Given the description of an element on the screen output the (x, y) to click on. 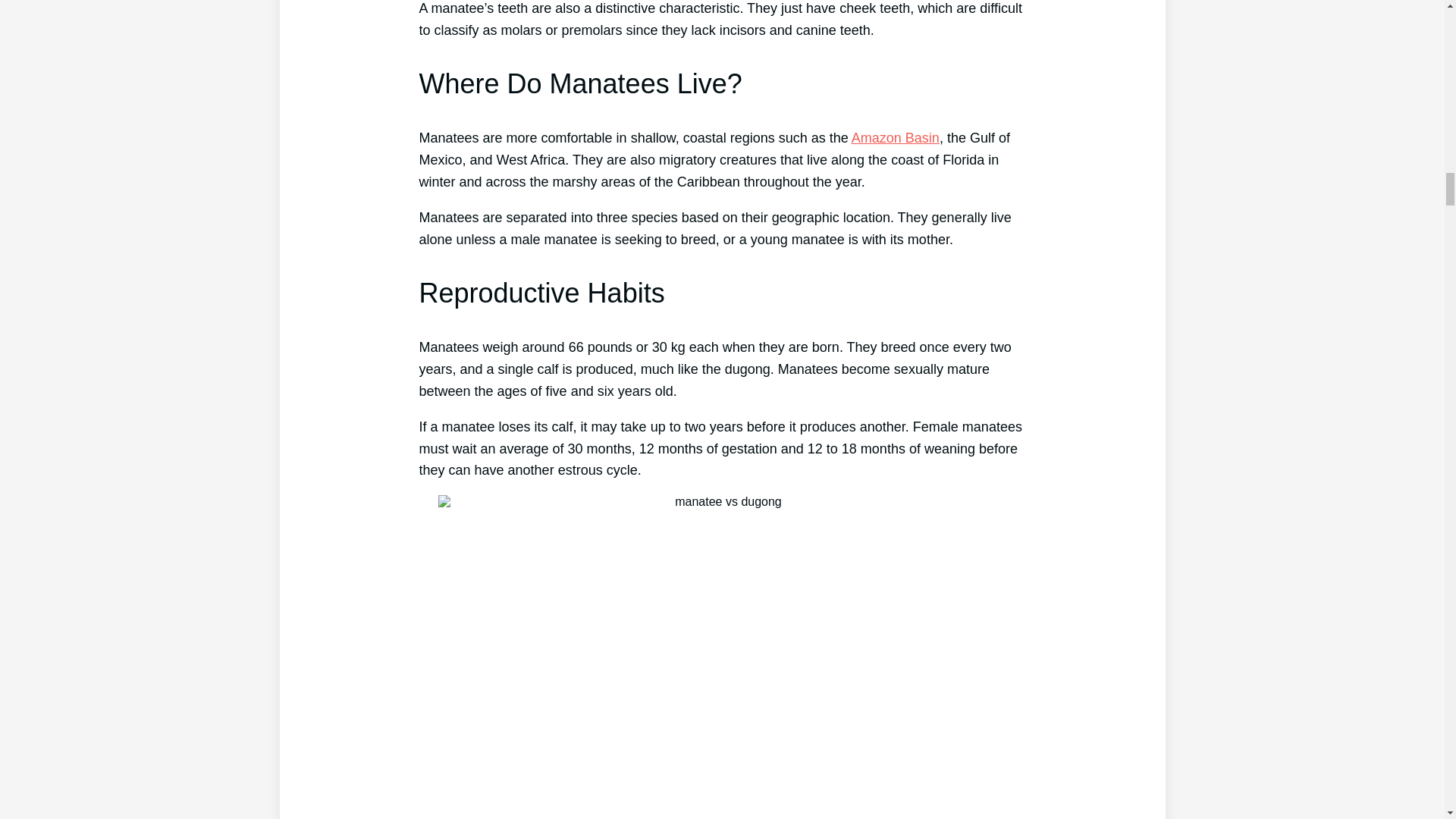
Amazon Basin (895, 137)
